Given the description of an element on the screen output the (x, y) to click on. 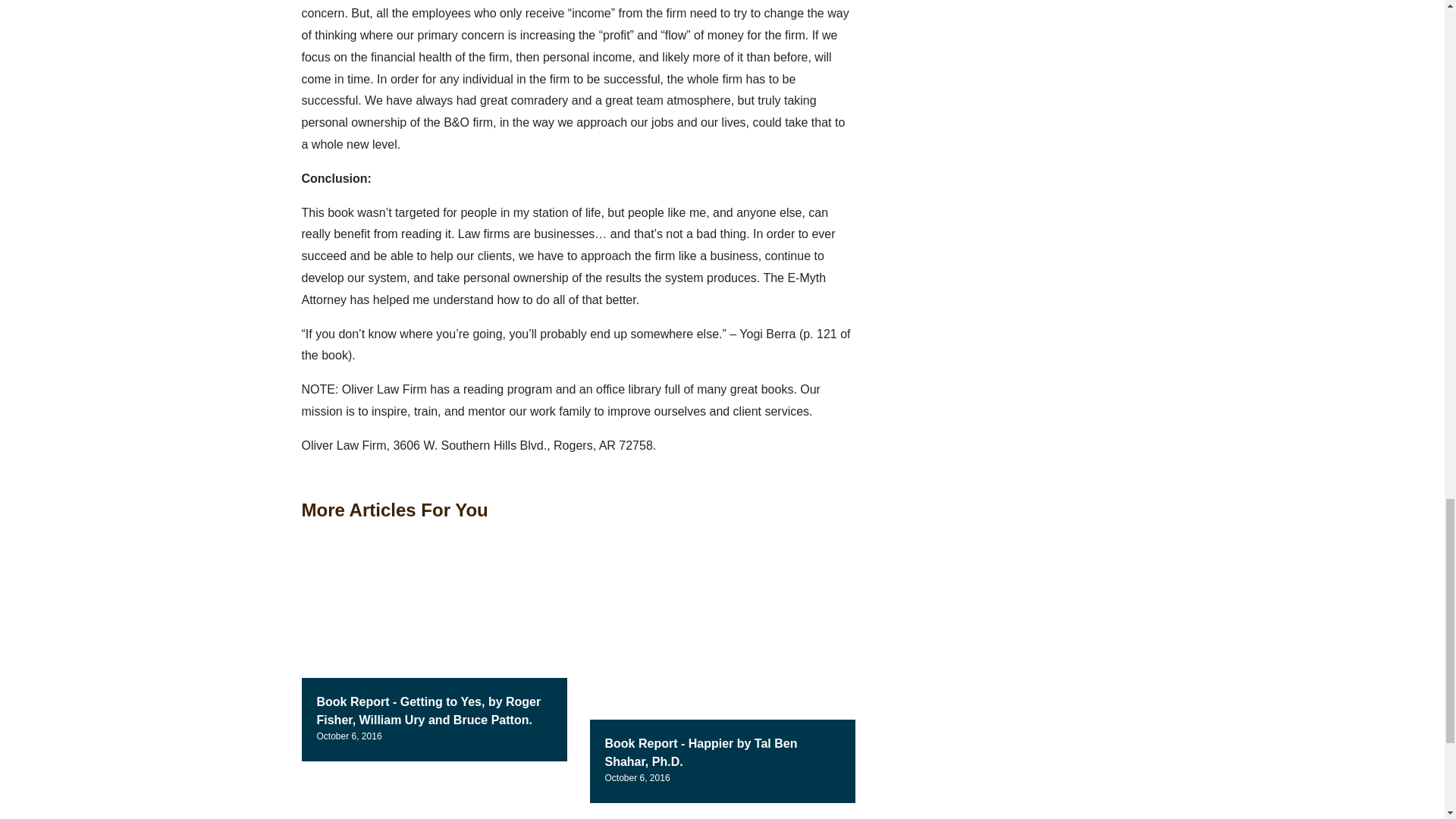
Book Report - Happier by Tal Ben Shahar, Ph.D. (701, 752)
